Given the description of an element on the screen output the (x, y) to click on. 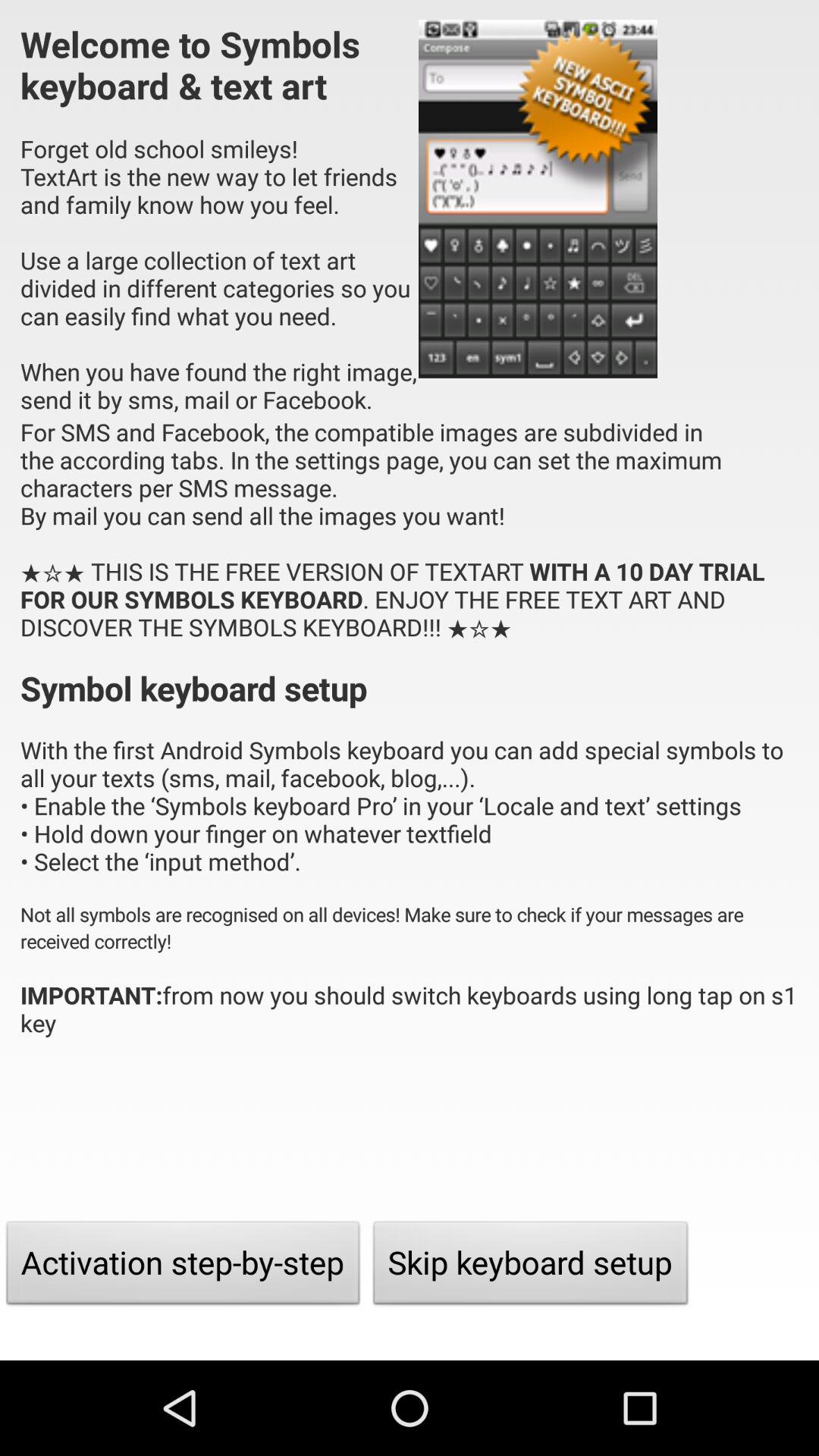
press the item next to the skip keyboard setup item (183, 1266)
